Given the description of an element on the screen output the (x, y) to click on. 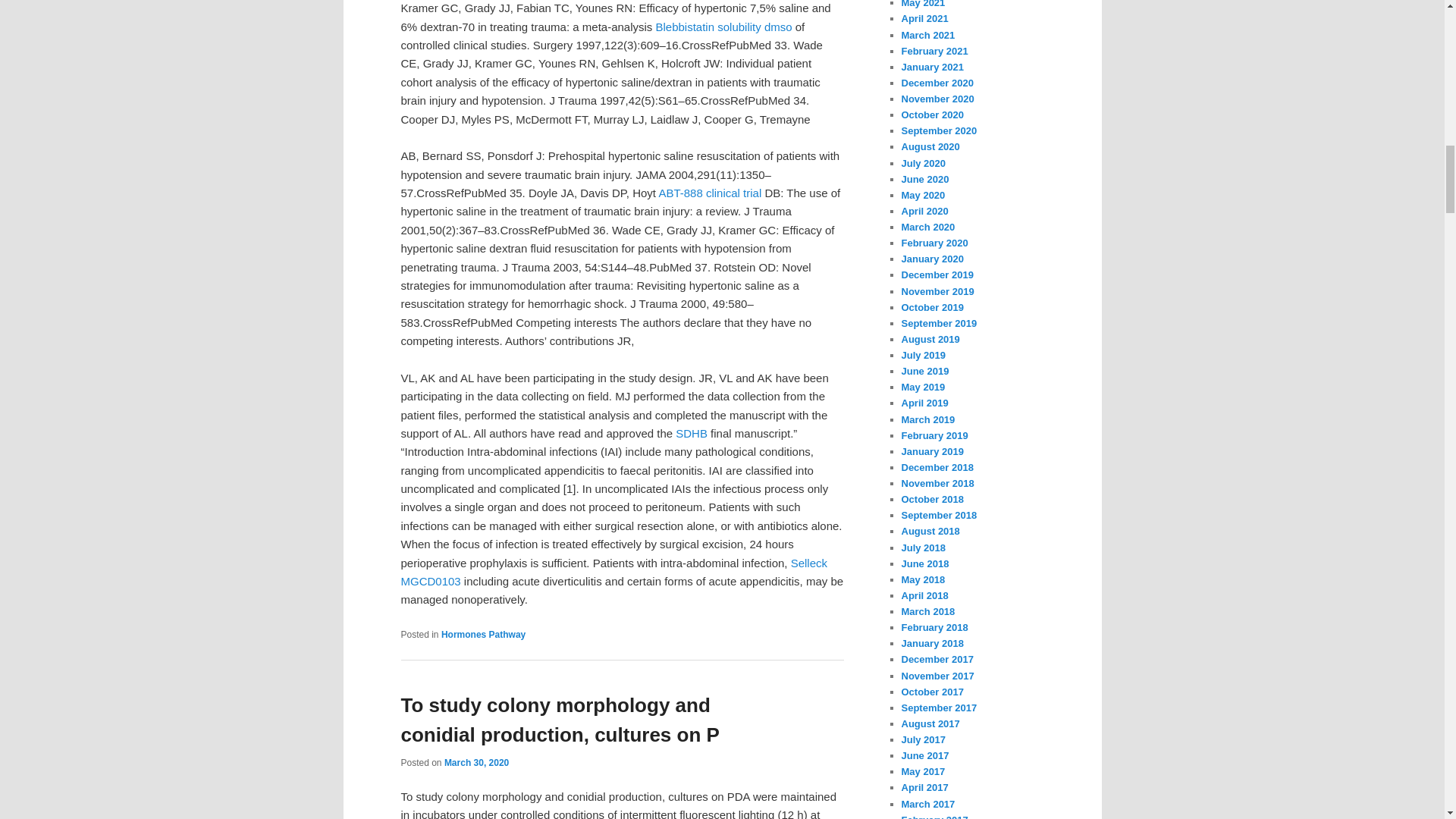
View all posts in Hormones Pathway (483, 634)
Hormones Pathway (483, 634)
10:19 am (476, 762)
ABT-888 clinical trial (709, 192)
Blebbistatin solubility dmso (723, 26)
Selleck MGCD0103 (613, 572)
March 30, 2020 (476, 762)
SDHB (691, 432)
